Given the description of an element on the screen output the (x, y) to click on. 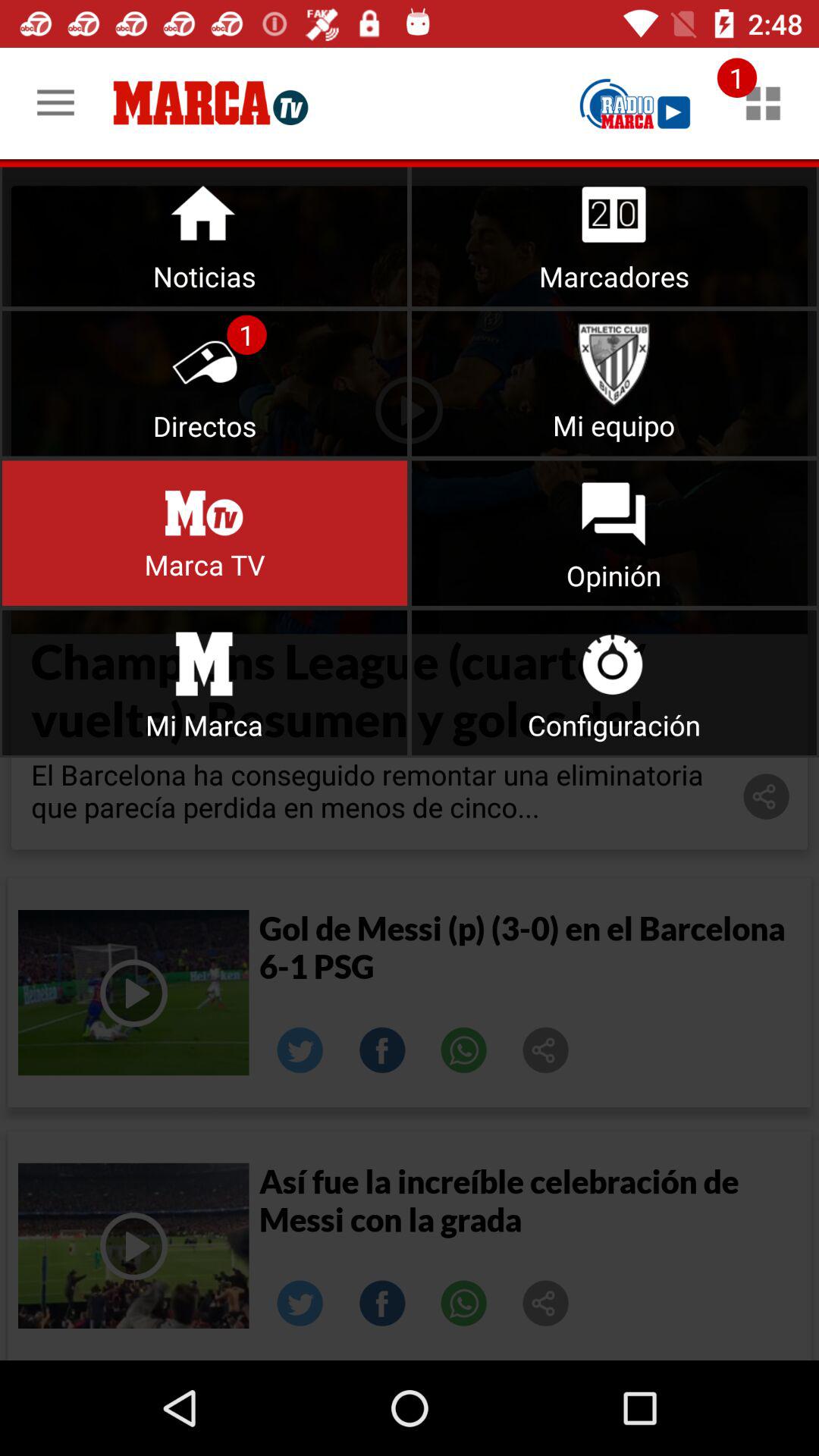
click it (204, 682)
